Given the description of an element on the screen output the (x, y) to click on. 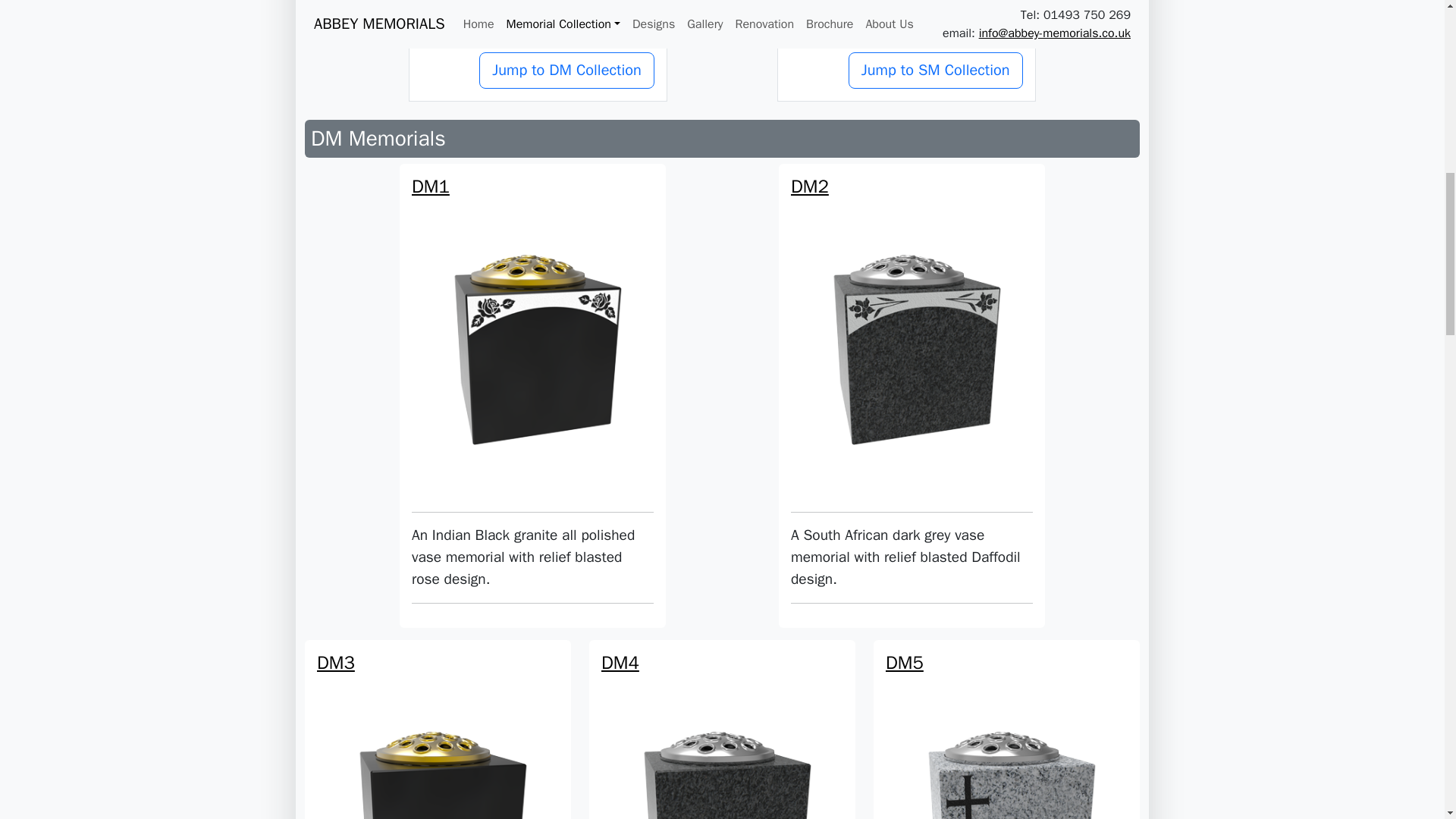
DM2 (911, 267)
DM5 (1005, 735)
DM4 (722, 735)
Jump to DM Collection (566, 70)
DM3 (438, 735)
Jump to SM Collection (935, 70)
DM1 (532, 267)
